Given the description of an element on the screen output the (x, y) to click on. 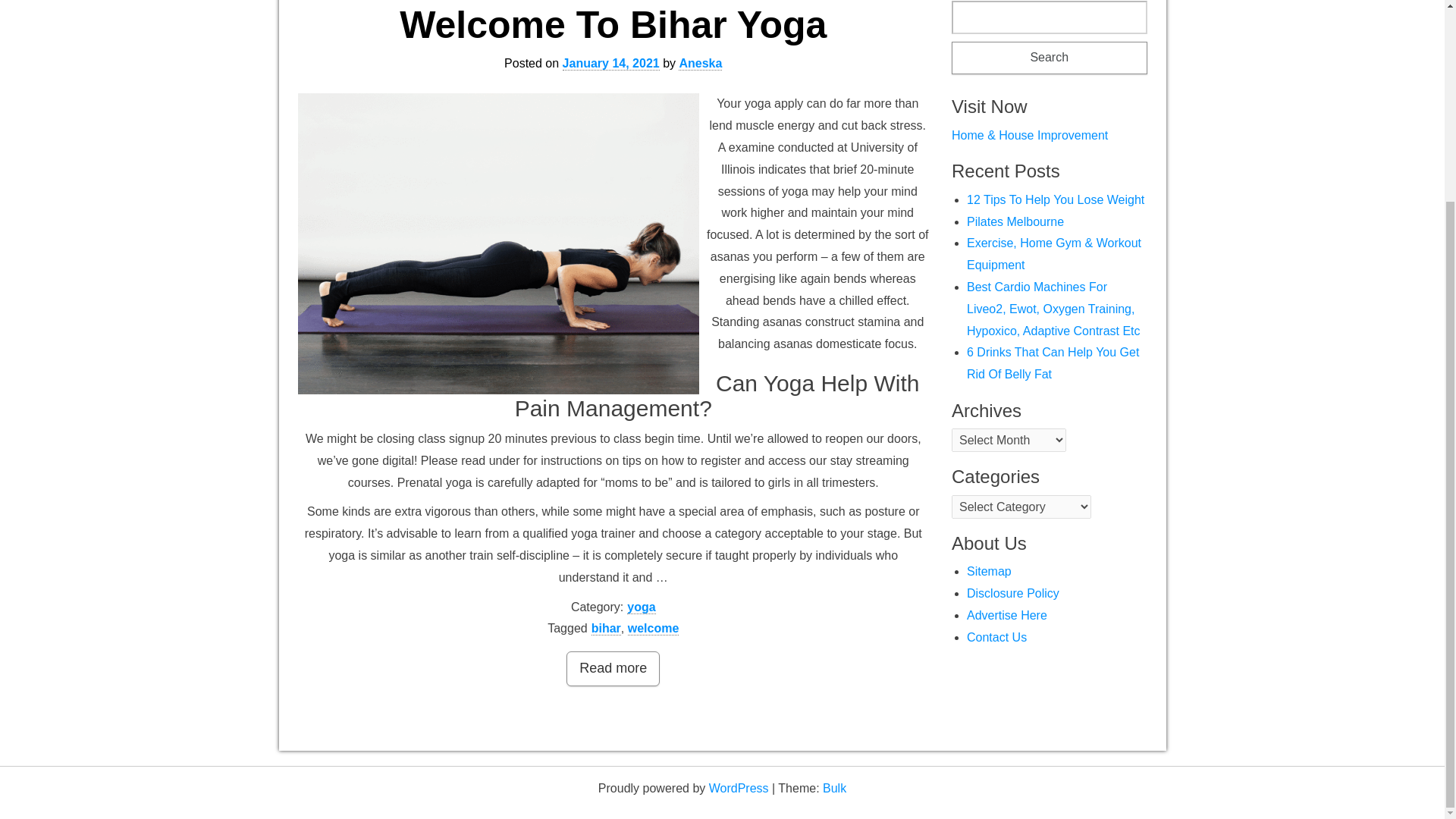
yoga (641, 607)
welcome (653, 628)
Pilates Melbourne (1015, 221)
Search (1049, 57)
bihar (606, 628)
Search (1049, 57)
Read more (612, 668)
Welcome To Bihar Yoga (612, 24)
Aneska (700, 63)
12 Tips To Help You Lose Weight (1055, 199)
